Given the description of an element on the screen output the (x, y) to click on. 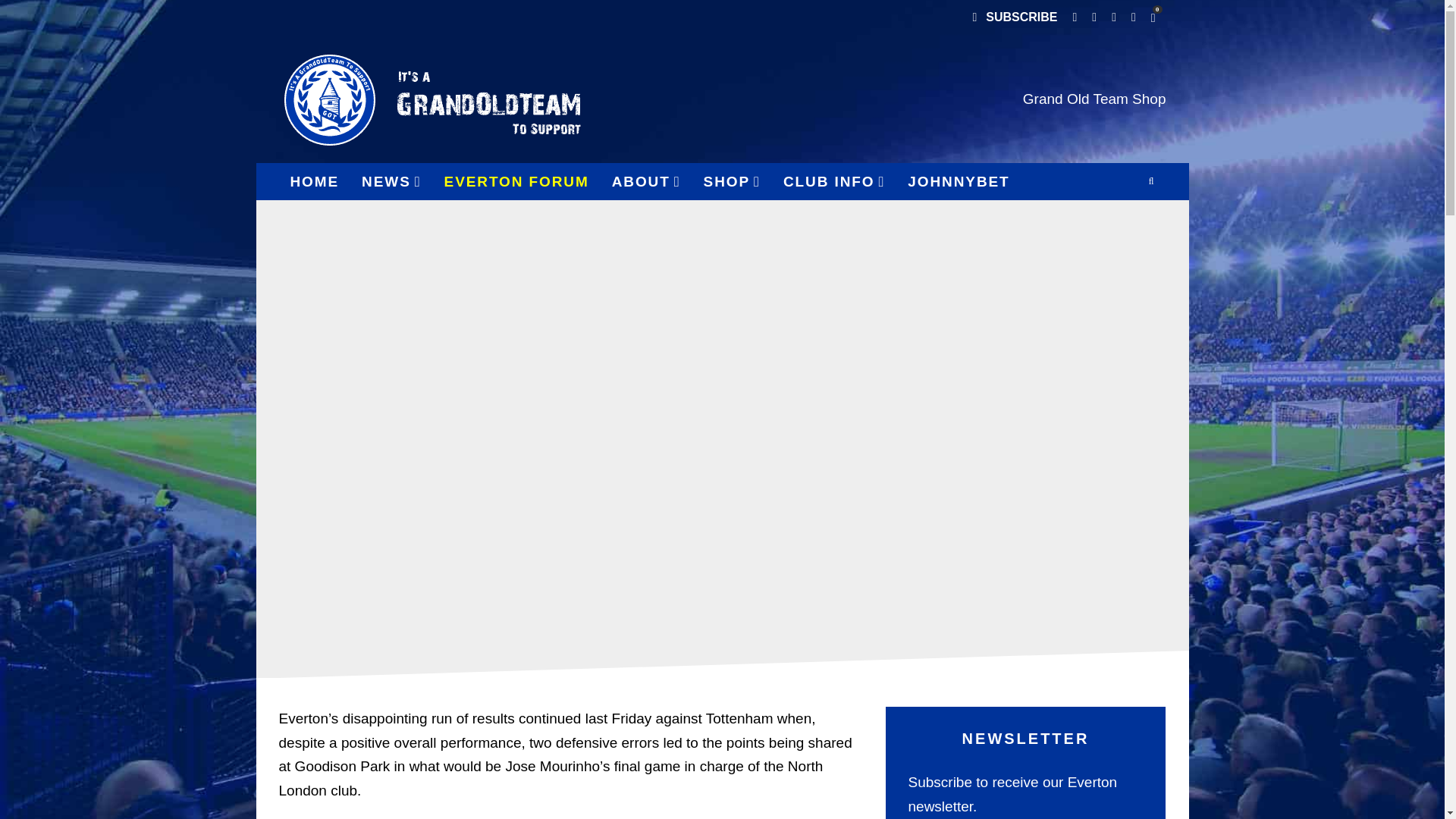
EVERTON FORUM (515, 181)
HOME (314, 181)
About (646, 181)
ABOUT (646, 181)
CLUB INFO (833, 181)
NEWS (391, 181)
Grand Old Team Shop (1094, 98)
SUBSCRIBE (1013, 18)
SHOP (732, 181)
